Given the description of an element on the screen output the (x, y) to click on. 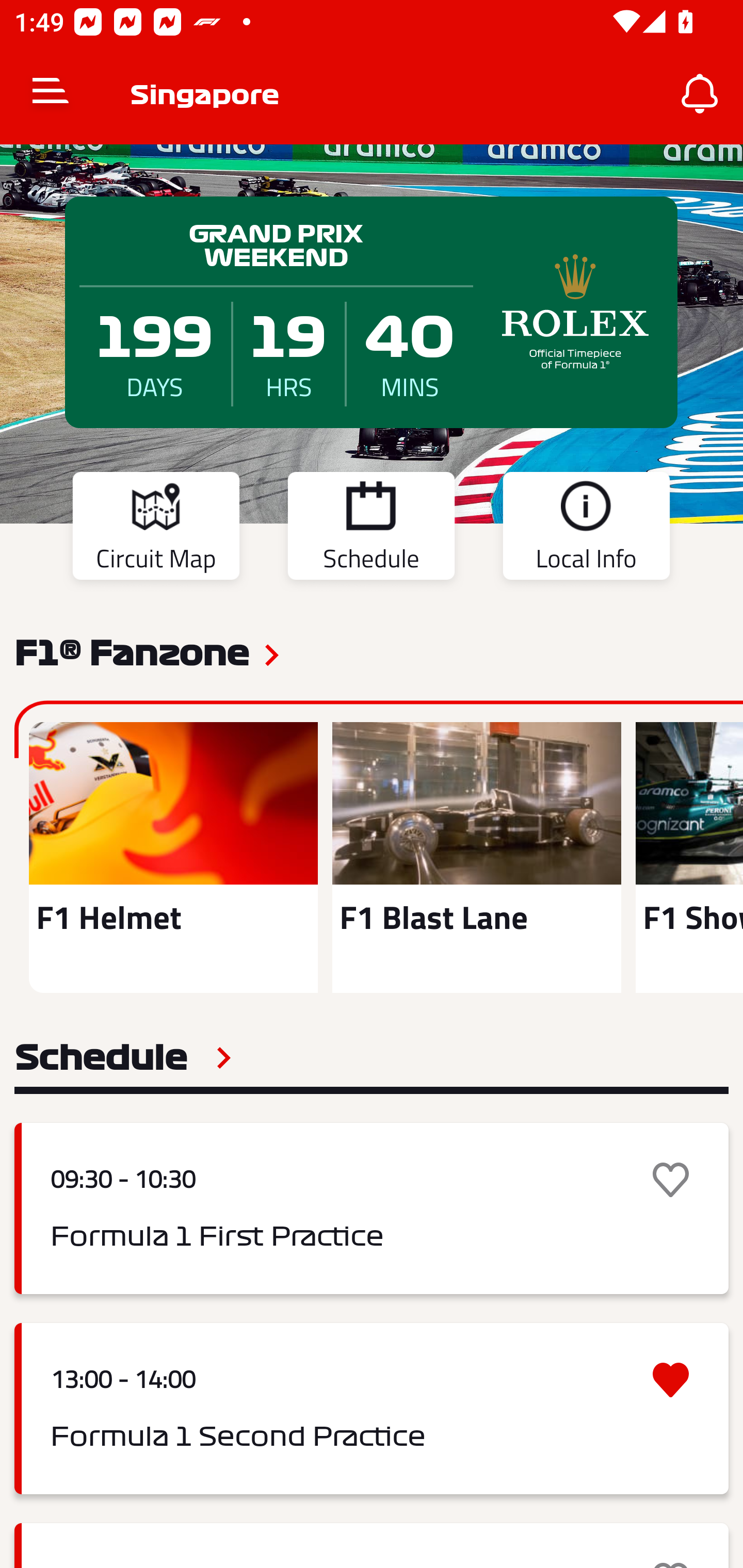
Navigate up (50, 93)
Notifications (699, 93)
Circuit Map (155, 528)
Schedule (370, 528)
Local Info (586, 528)
F1® Fanzone (131, 651)
F1 Helmet (173, 857)
F1 Blast Lane (476, 857)
Schedule (122, 1057)
09:30 - 10:30 Formula 1 First Practice (371, 1207)
13:00 - 14:00 Formula 1 Second Practice (371, 1408)
